Given the description of an element on the screen output the (x, y) to click on. 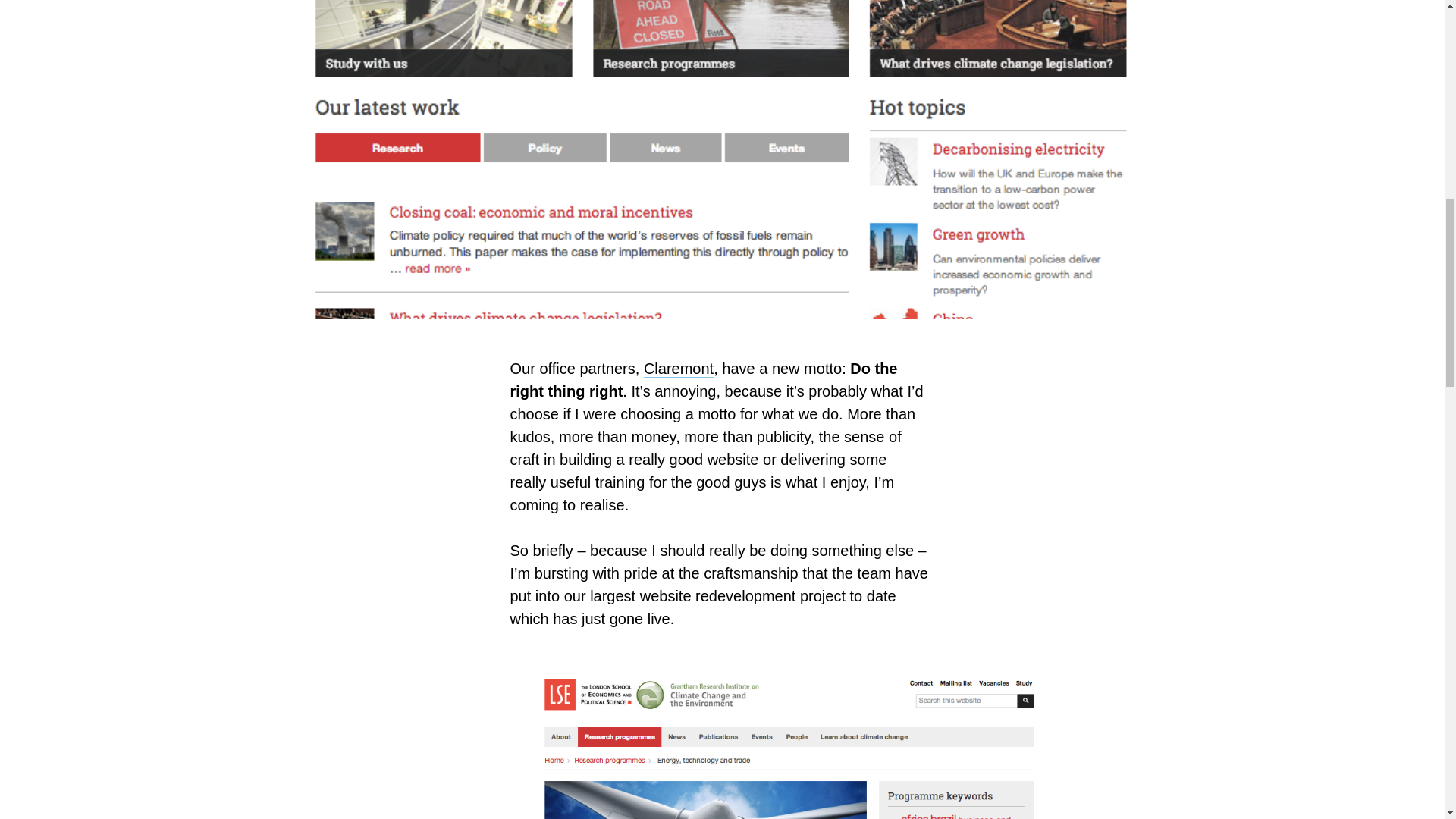
Claremont (678, 369)
